Given the description of an element on the screen output the (x, y) to click on. 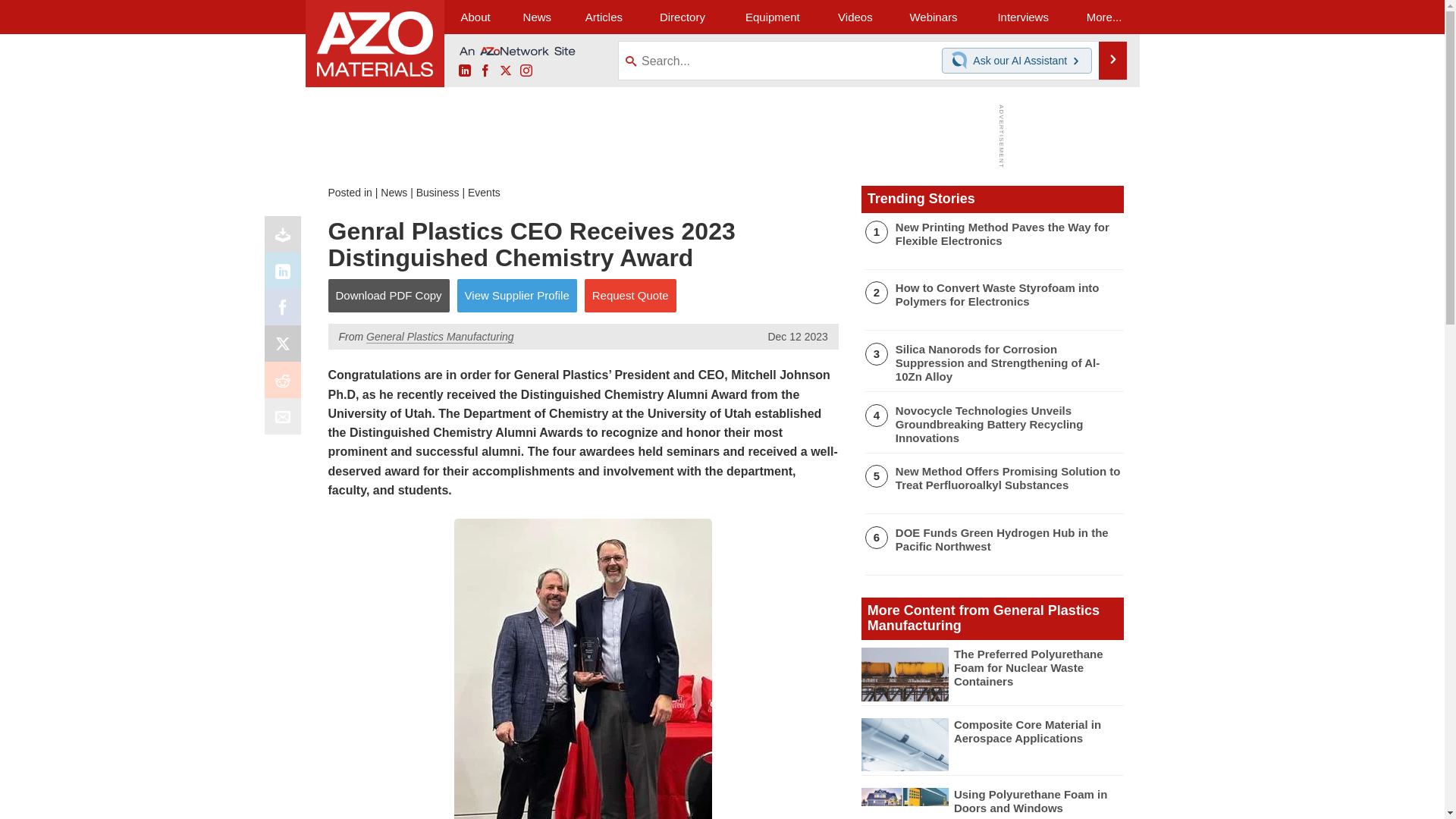
Webinars (932, 17)
Facebook (285, 311)
Facebook (485, 71)
Interviews (1022, 17)
LinkedIn (464, 71)
News (536, 17)
LinkedIn (285, 275)
Articles (603, 17)
About (475, 17)
X (285, 348)
Chat with our AI Assistant (962, 60)
Chat with our AI Assistant Ask our AI Assistant (1017, 60)
Directory (681, 17)
Instagram (525, 71)
